Given the description of an element on the screen output the (x, y) to click on. 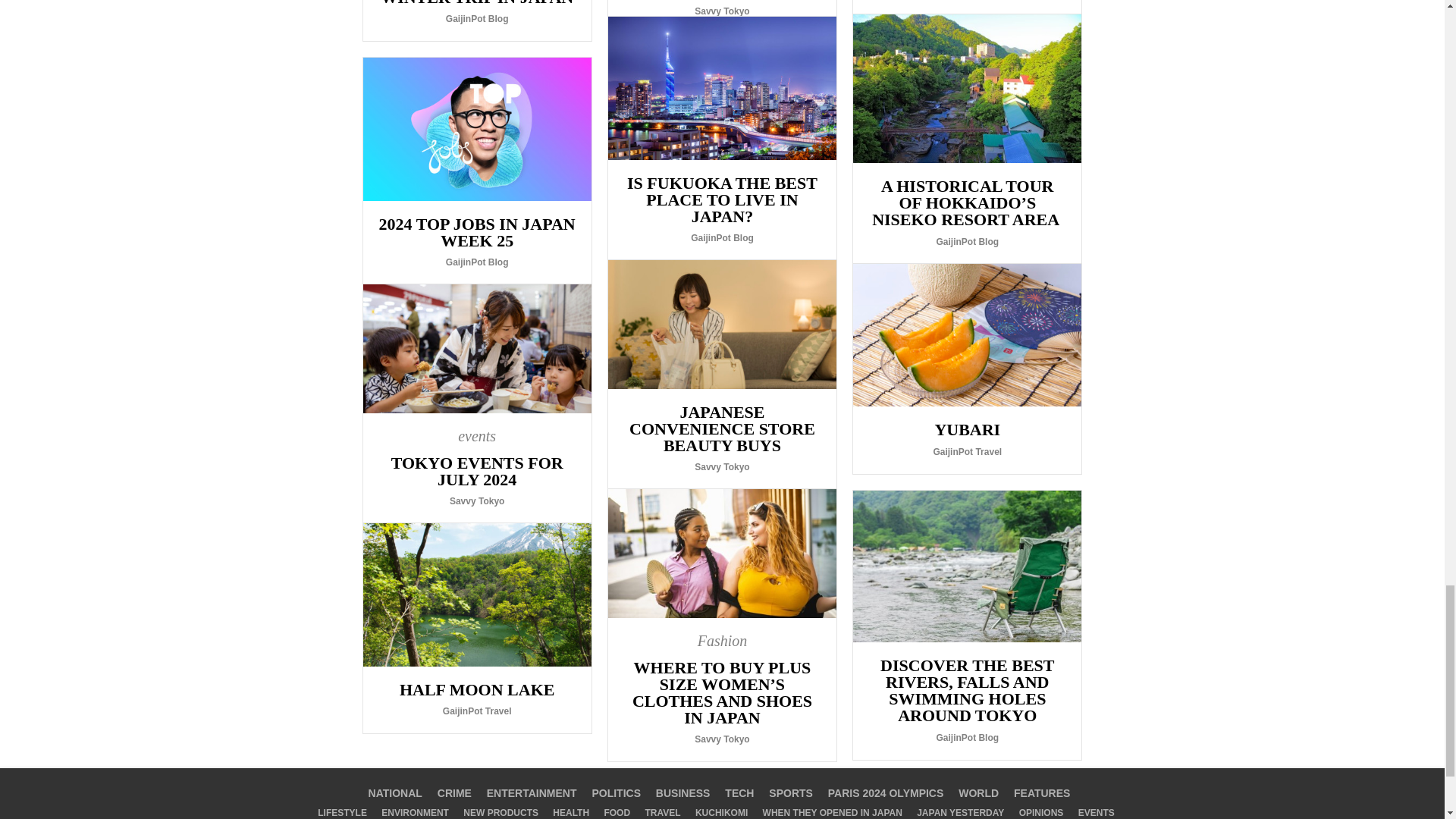
Akita is The Perfect Winter Trip in Japan (476, 20)
